Given the description of an element on the screen output the (x, y) to click on. 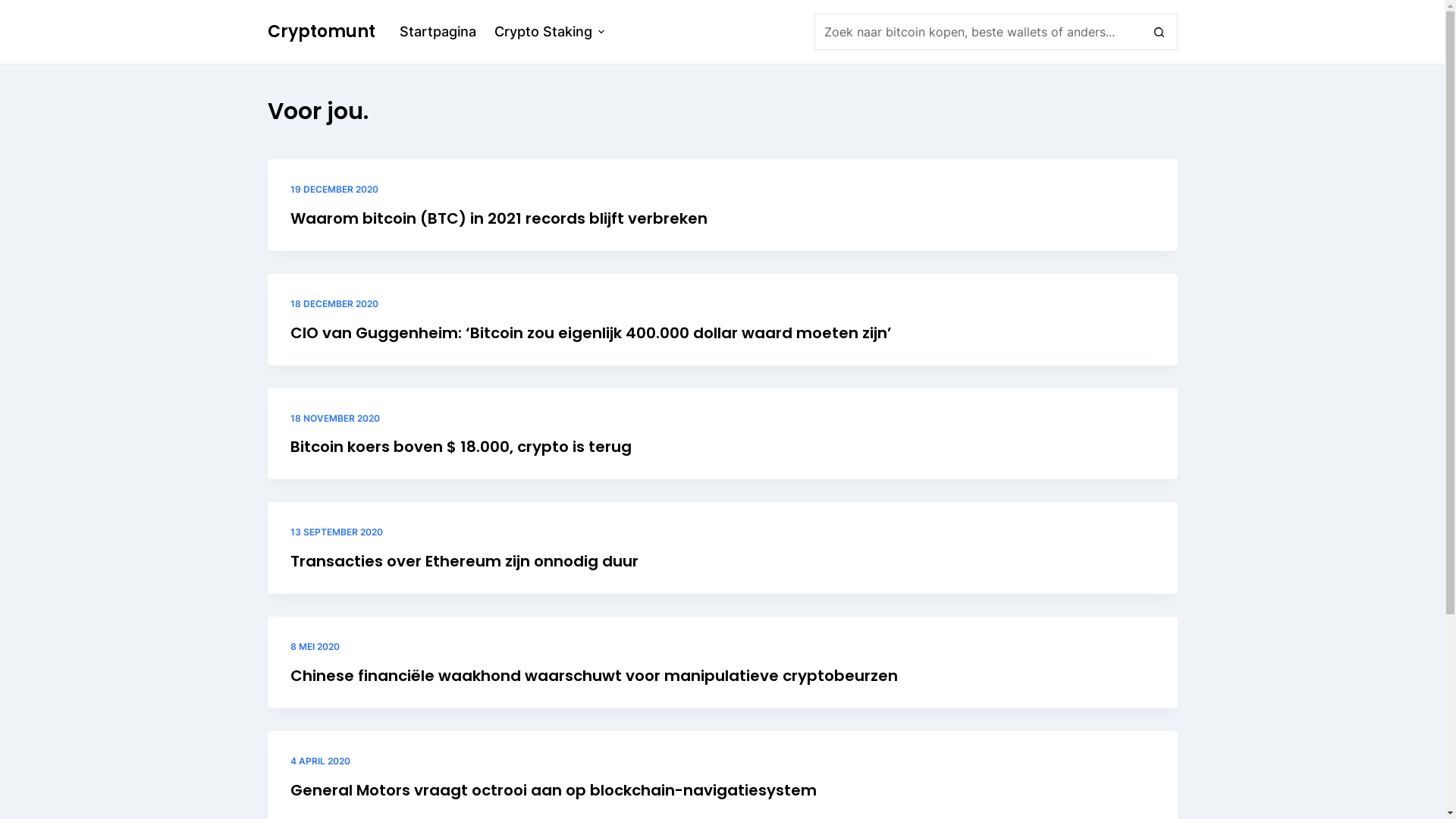
Skip to content Element type: text (15, 7)
Startpagina Element type: text (436, 31)
Bitcoin koers boven $ 18.000, crypto is terug Element type: text (459, 446)
Waarom bitcoin (BTC) in 2021 records blijft verbreken Element type: text (497, 218)
Crypto Staking Element type: text (549, 31)
Cryptomunt Element type: text (320, 31)
Search for... Element type: hover (977, 31)
Transacties over Ethereum zijn onnodig duur Element type: text (463, 560)
